Given the description of an element on the screen output the (x, y) to click on. 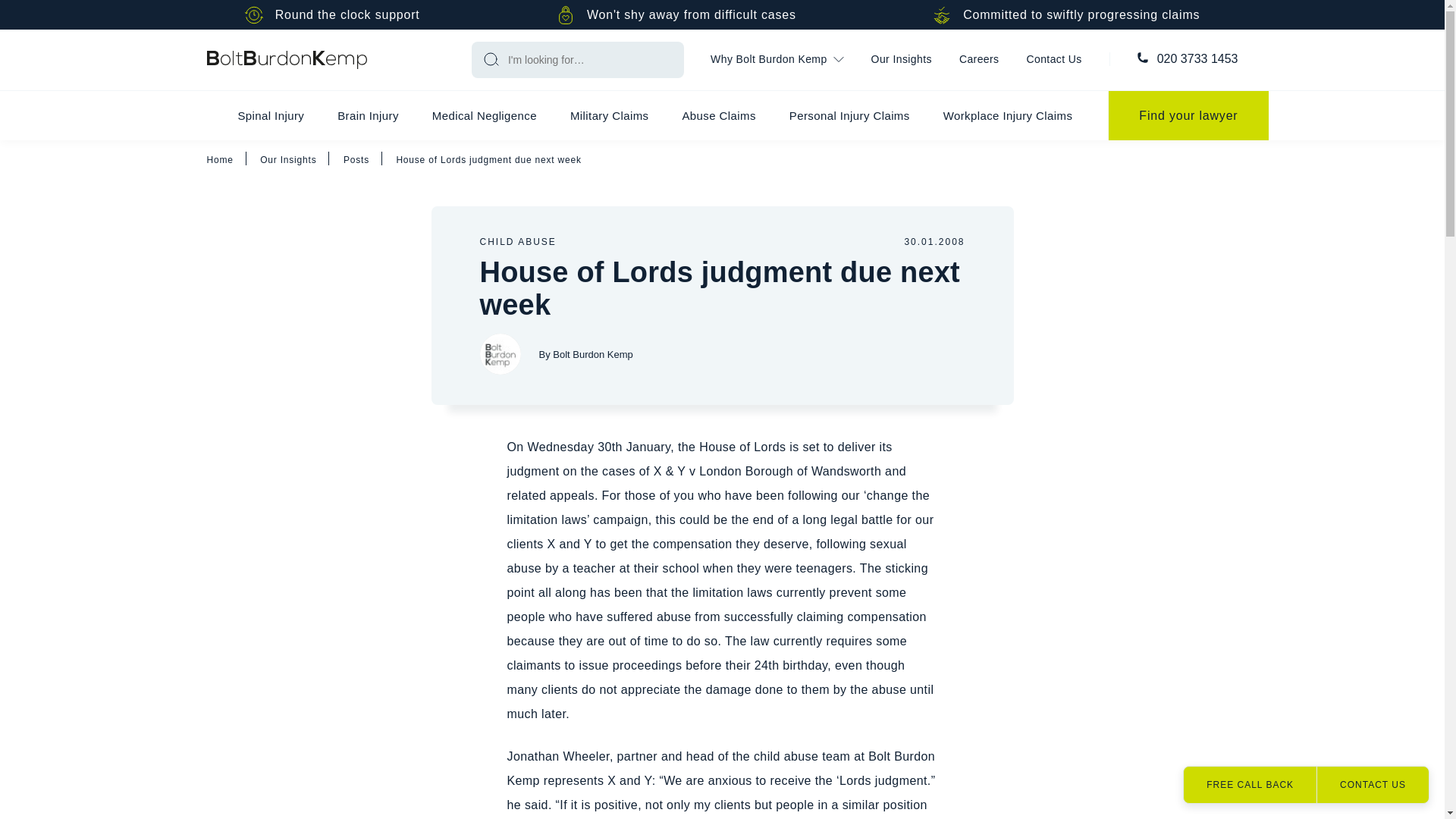
FREE CALL BACK (1249, 784)
Spinal Injury (270, 115)
Contact Us (1053, 60)
CONTACT US (1372, 784)
Bolt Burdon Kemp (499, 354)
Brain Injury (367, 115)
Home (286, 58)
Our Insights (900, 60)
Careers (978, 60)
Why Bolt Burdon Kemp (777, 60)
020 3733 1453 (1198, 59)
